Given the description of an element on the screen output the (x, y) to click on. 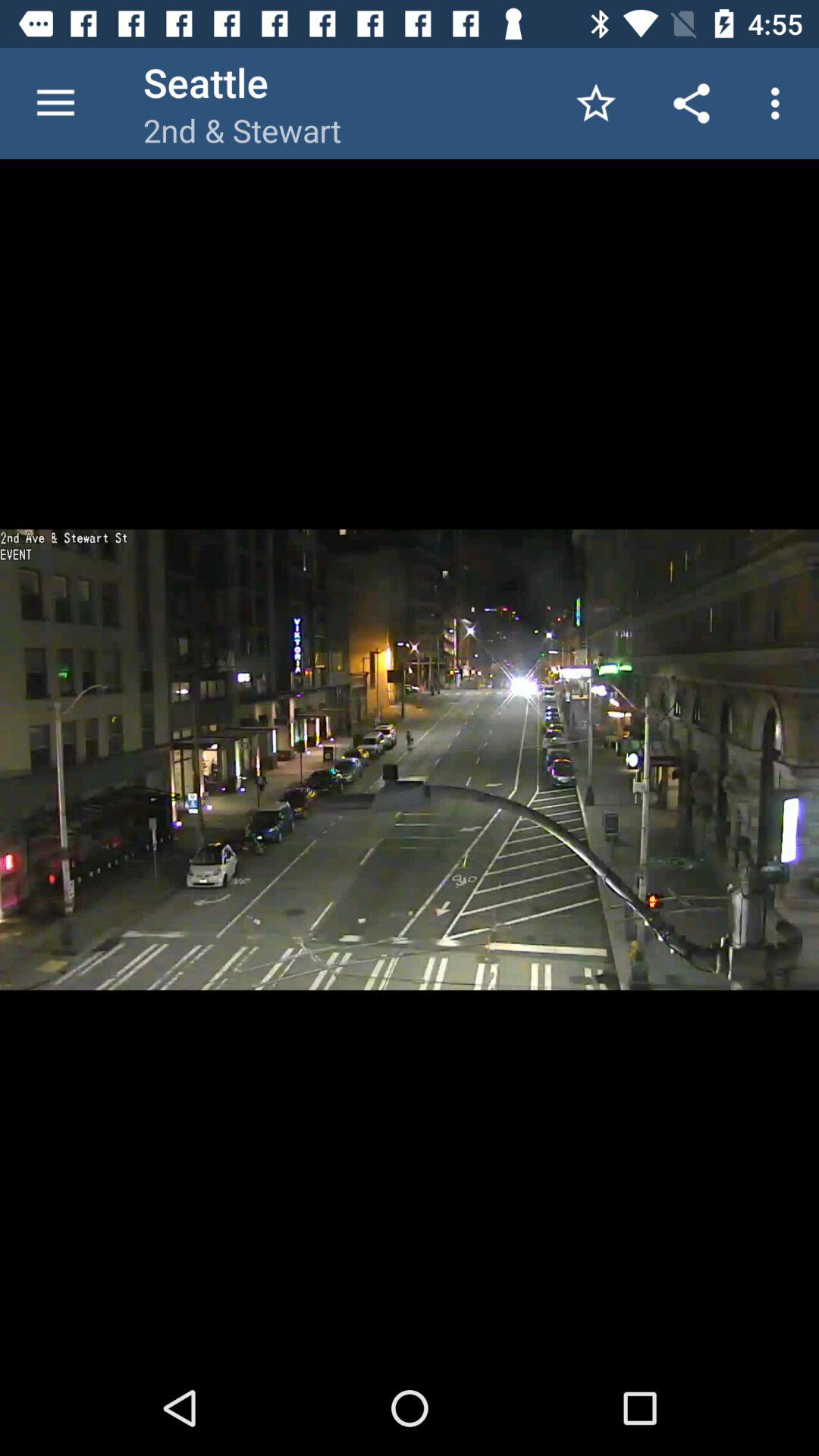
turn off item next to 2nd & stewart icon (595, 103)
